Given the description of an element on the screen output the (x, y) to click on. 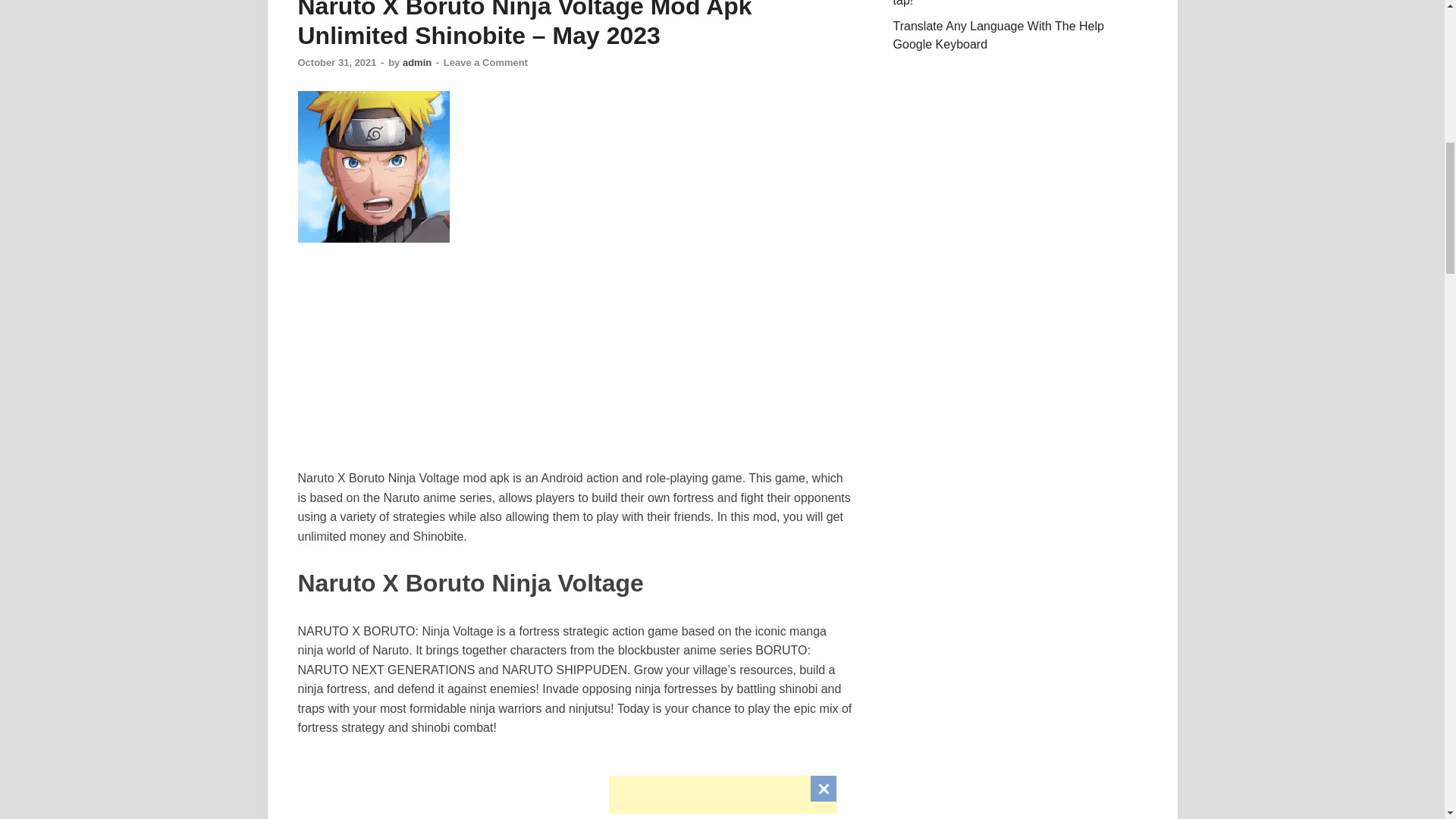
Leave a Comment (485, 61)
October 31, 2021 (336, 61)
admin (416, 61)
